Given the description of an element on the screen output the (x, y) to click on. 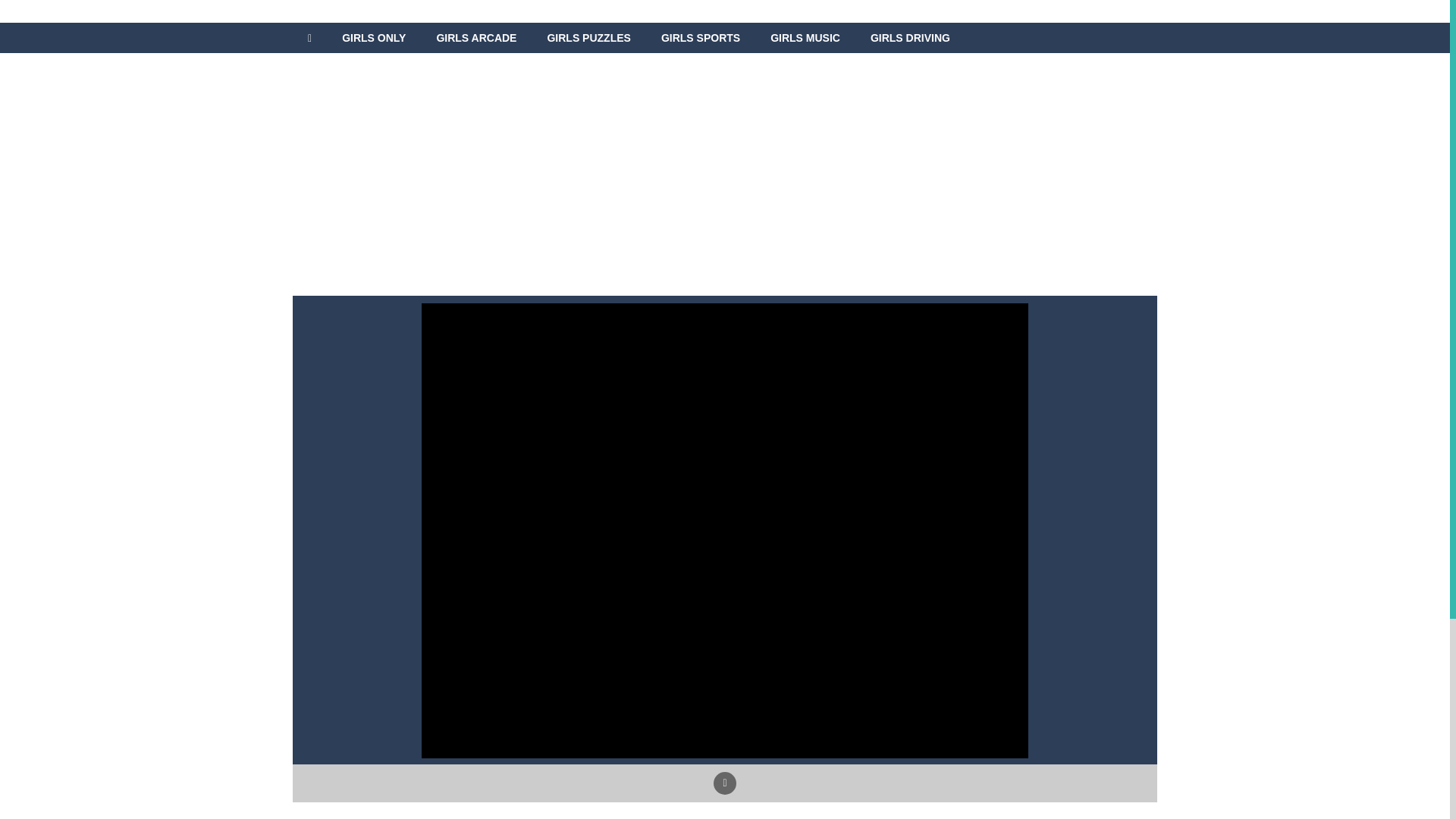
GIRLS DRIVING (910, 37)
GIRLS ARCADE (475, 37)
GIRLS ONLY (373, 37)
GIRLS MUSIC (805, 37)
Play in fullscreen (724, 783)
GIRLS PUZZLES (588, 37)
GIRLS SPORTS (700, 37)
